Given the description of an element on the screen output the (x, y) to click on. 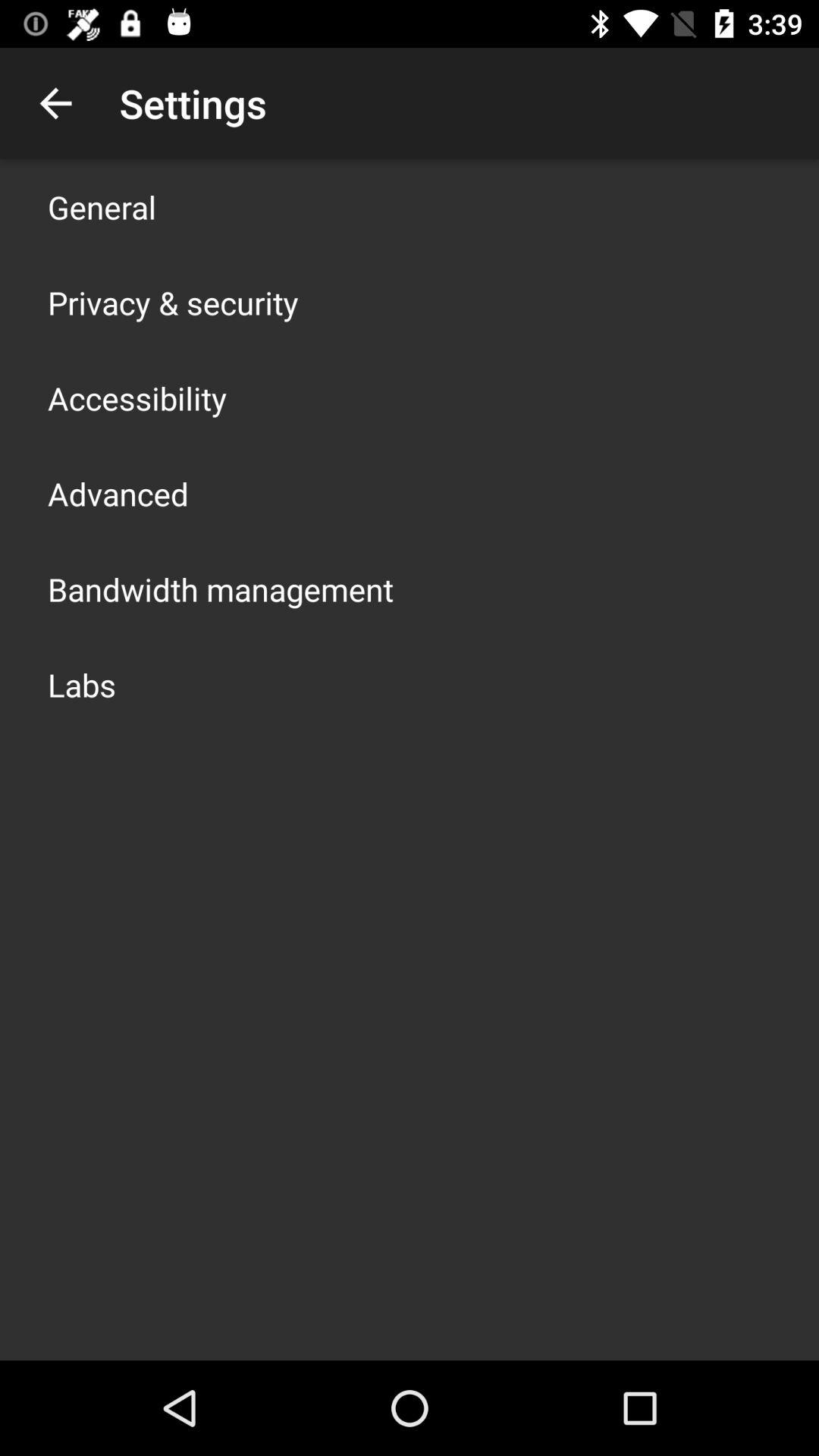
turn on item below general icon (172, 302)
